Given the description of an element on the screen output the (x, y) to click on. 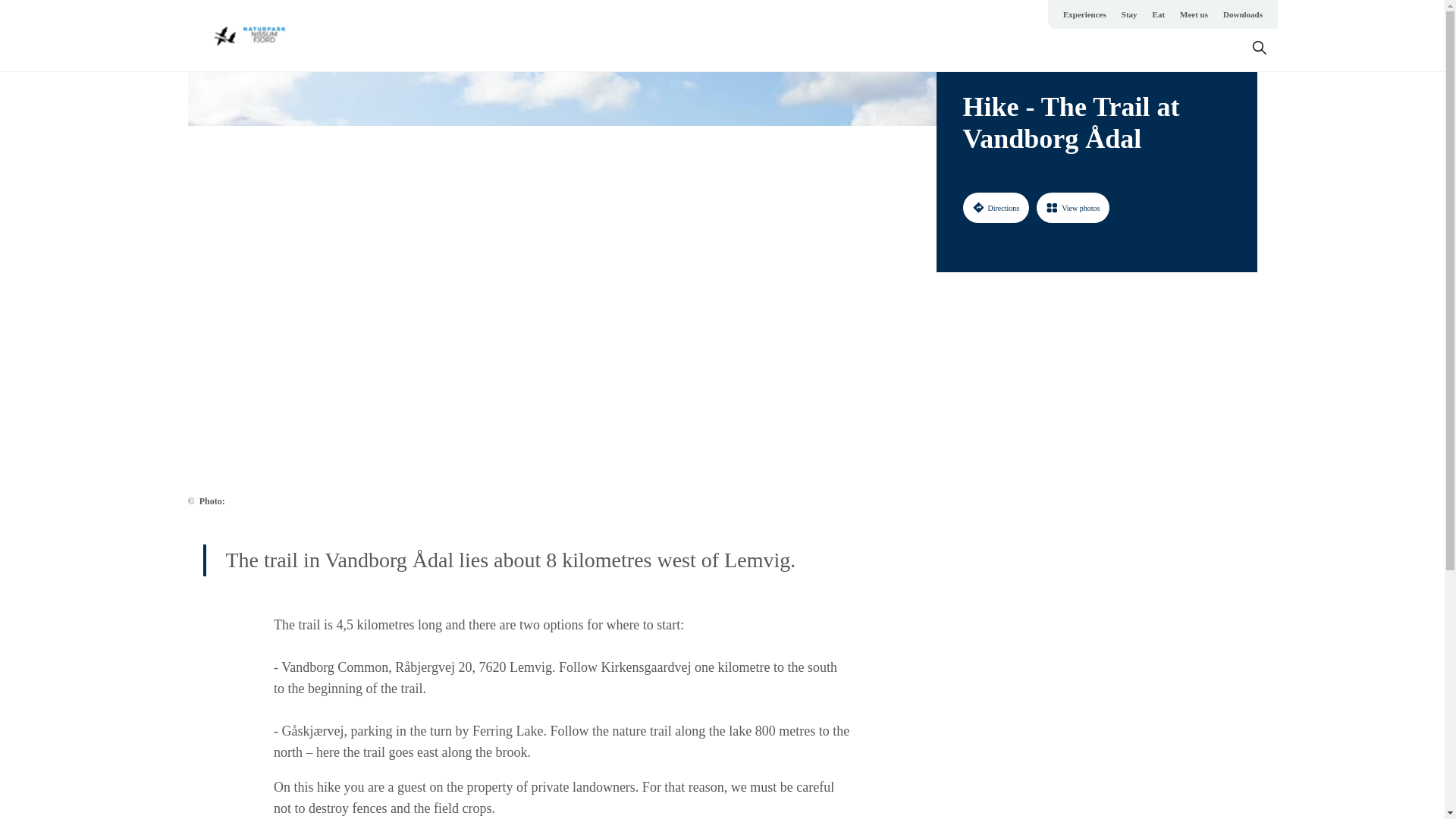
Experiences (1084, 14)
Go to homepage (253, 34)
Meet us (1193, 14)
Stay (1128, 14)
Directions (995, 207)
Downloads (1242, 14)
Eat (1158, 14)
View photos (1072, 207)
